Given the description of an element on the screen output the (x, y) to click on. 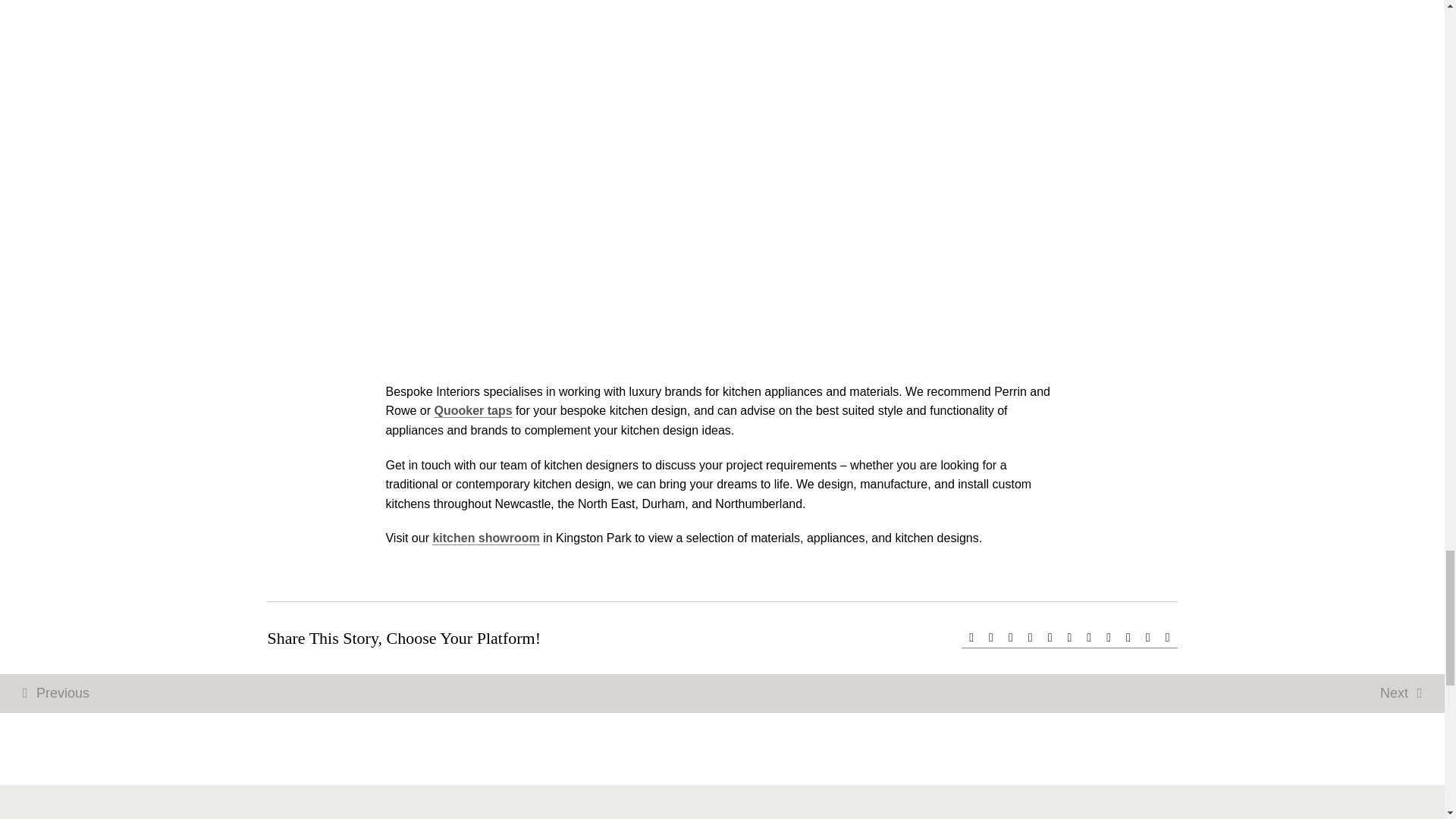
Next (1401, 693)
Quooker taps (472, 410)
kitchen showroom (485, 538)
Previous (55, 693)
